Given the description of an element on the screen output the (x, y) to click on. 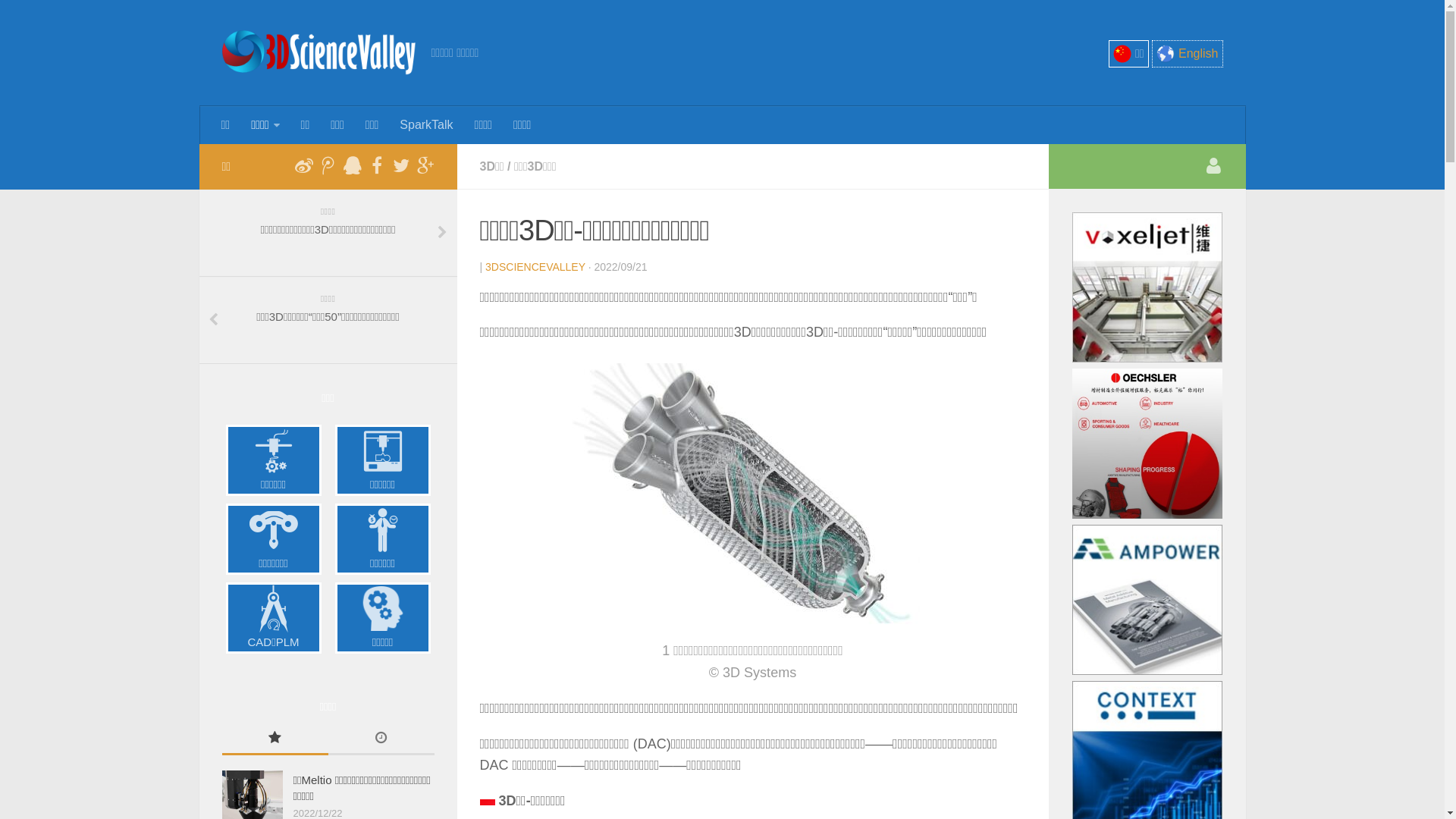
Google+ Element type: hover (424, 165)
Facebook Element type: hover (376, 165)
SparkTalk Element type: text (426, 124)
3DSCIENCEVALLEY Element type: text (535, 266)
Twitter Element type: hover (400, 165)
English Element type: text (1186, 52)
